Given the description of an element on the screen output the (x, y) to click on. 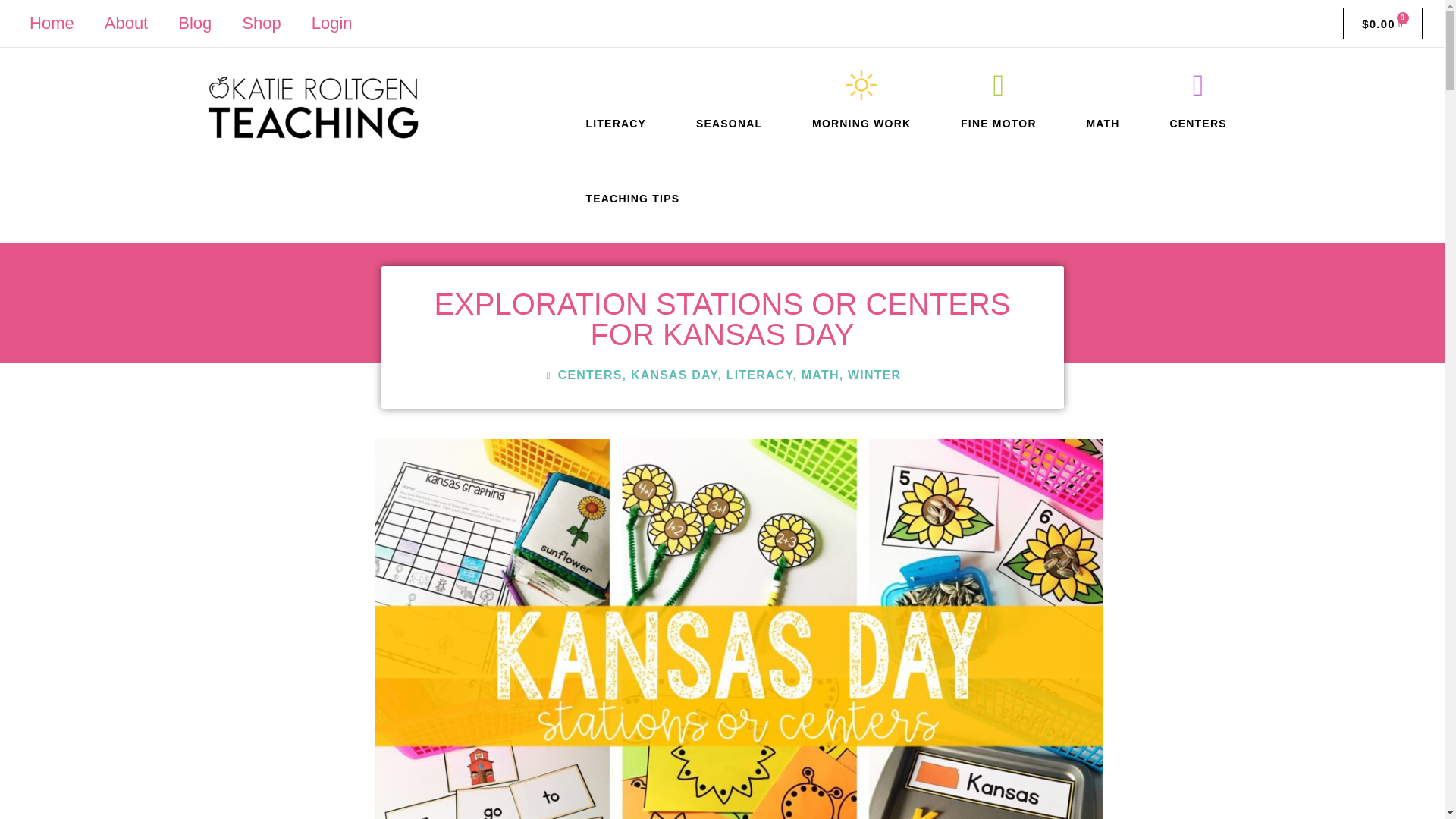
CENTERS (1197, 123)
KANSAS DAY (673, 374)
Home (51, 22)
Shop (261, 22)
Login (332, 22)
TEACHING TIPS (632, 198)
Blog (195, 22)
SEASONAL (728, 123)
MATH (1102, 123)
MORNING WORK (861, 123)
About (125, 22)
LITERACY (615, 123)
FINE MOTOR (998, 123)
CENTERS (590, 374)
